Given the description of an element on the screen output the (x, y) to click on. 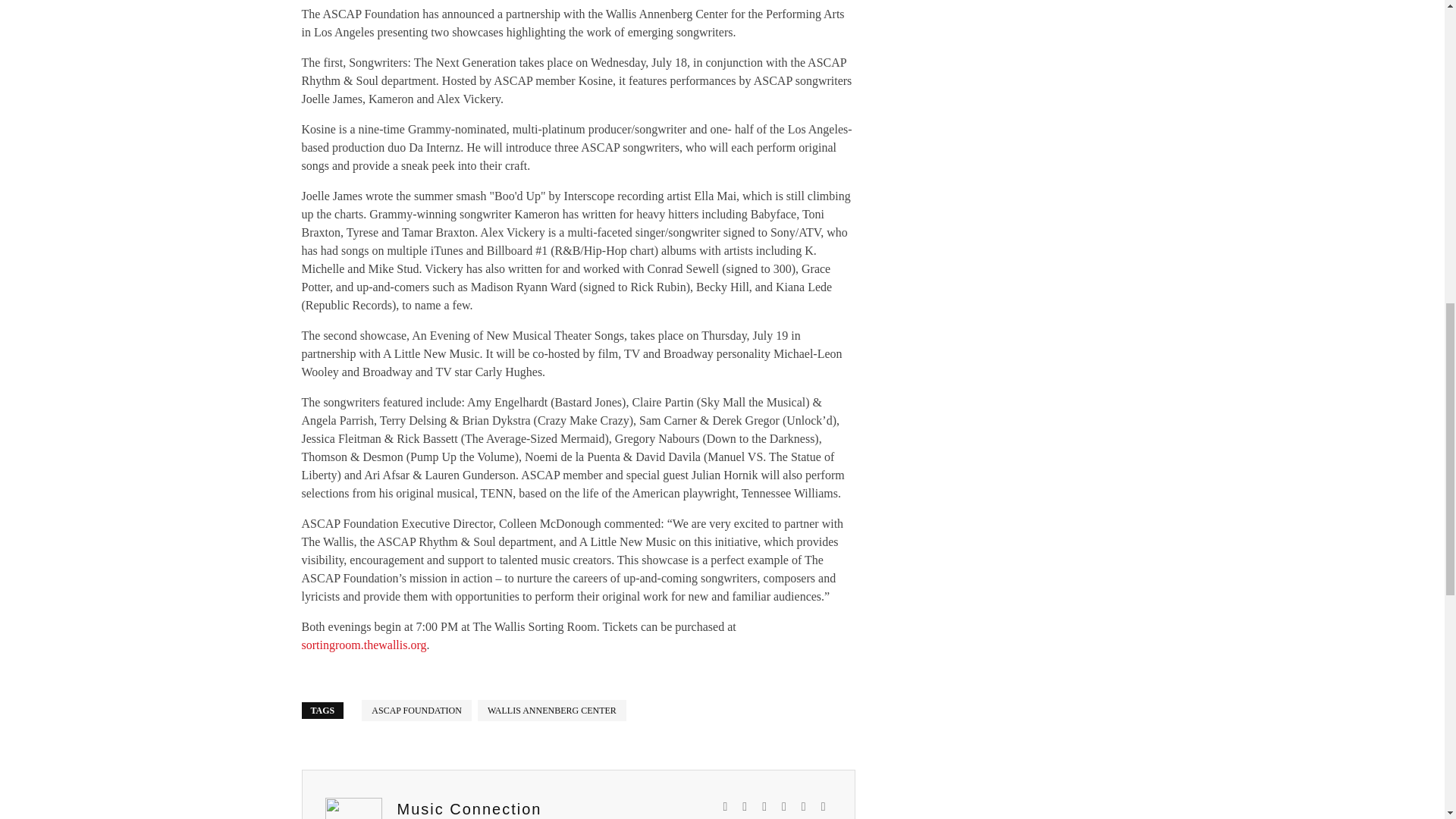
View all posts tagged Wallis Annenberg Center (551, 710)
View all posts tagged ASCAP Foundation (416, 710)
Page 2 (578, 584)
